Given the description of an element on the screen output the (x, y) to click on. 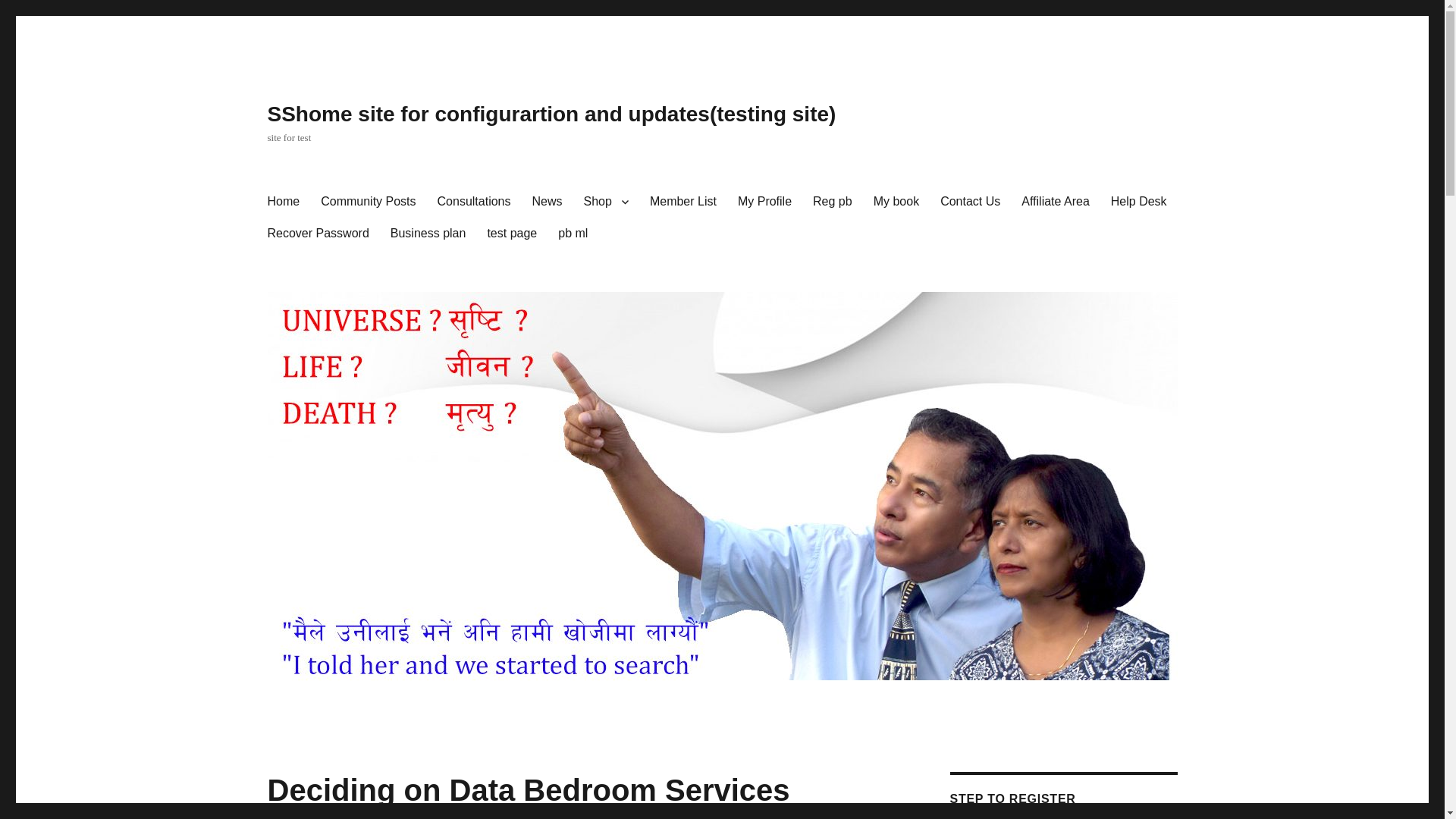
Help Desk (1138, 201)
Contact Us (970, 201)
Reg pb (832, 201)
Recover Password (317, 233)
test page (511, 233)
Affiliate Area (1055, 201)
Home (283, 201)
Shop (606, 201)
My book (896, 201)
Business plan (428, 233)
